Given the description of an element on the screen output the (x, y) to click on. 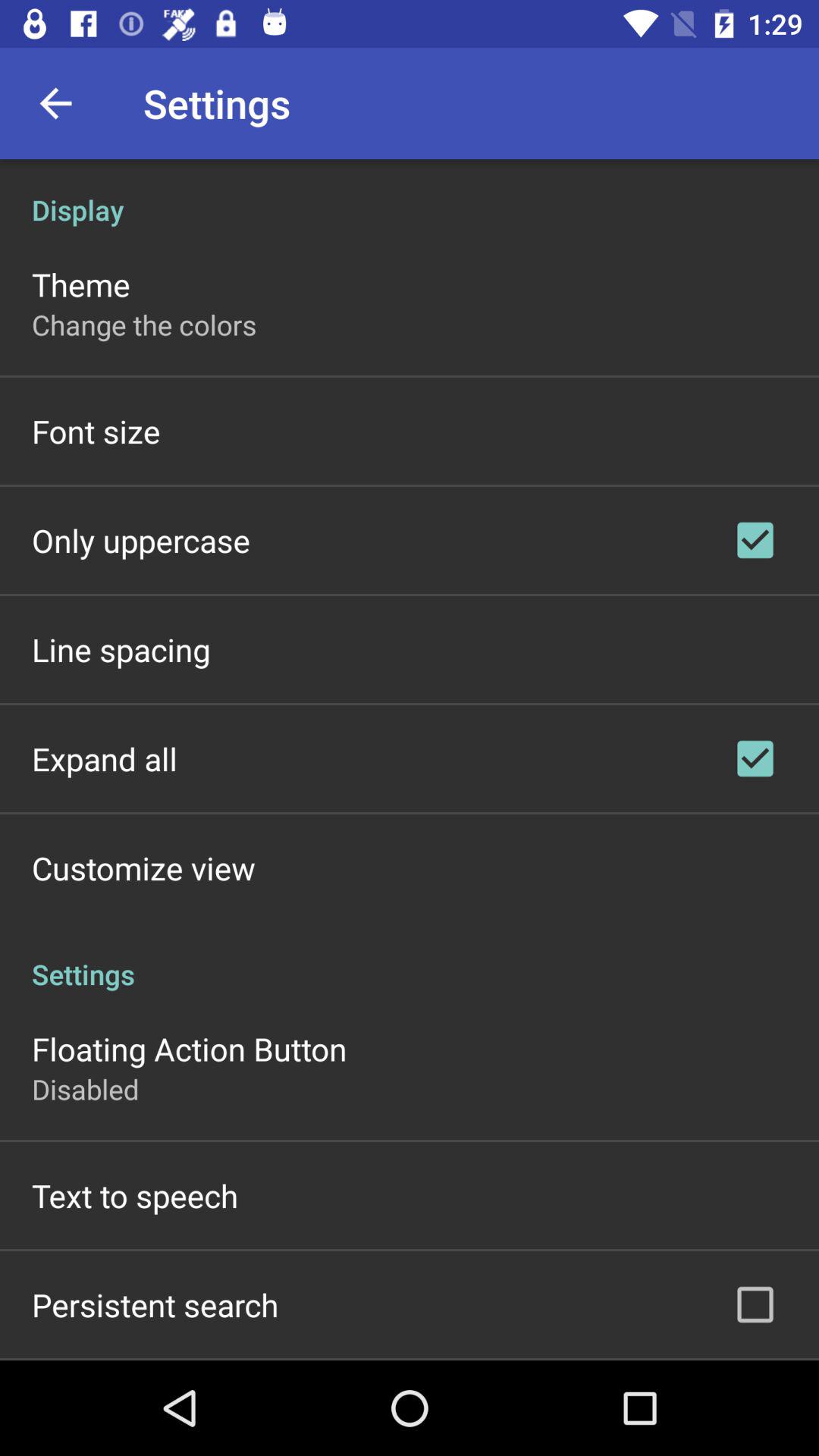
jump until the expand all icon (104, 758)
